Given the description of an element on the screen output the (x, y) to click on. 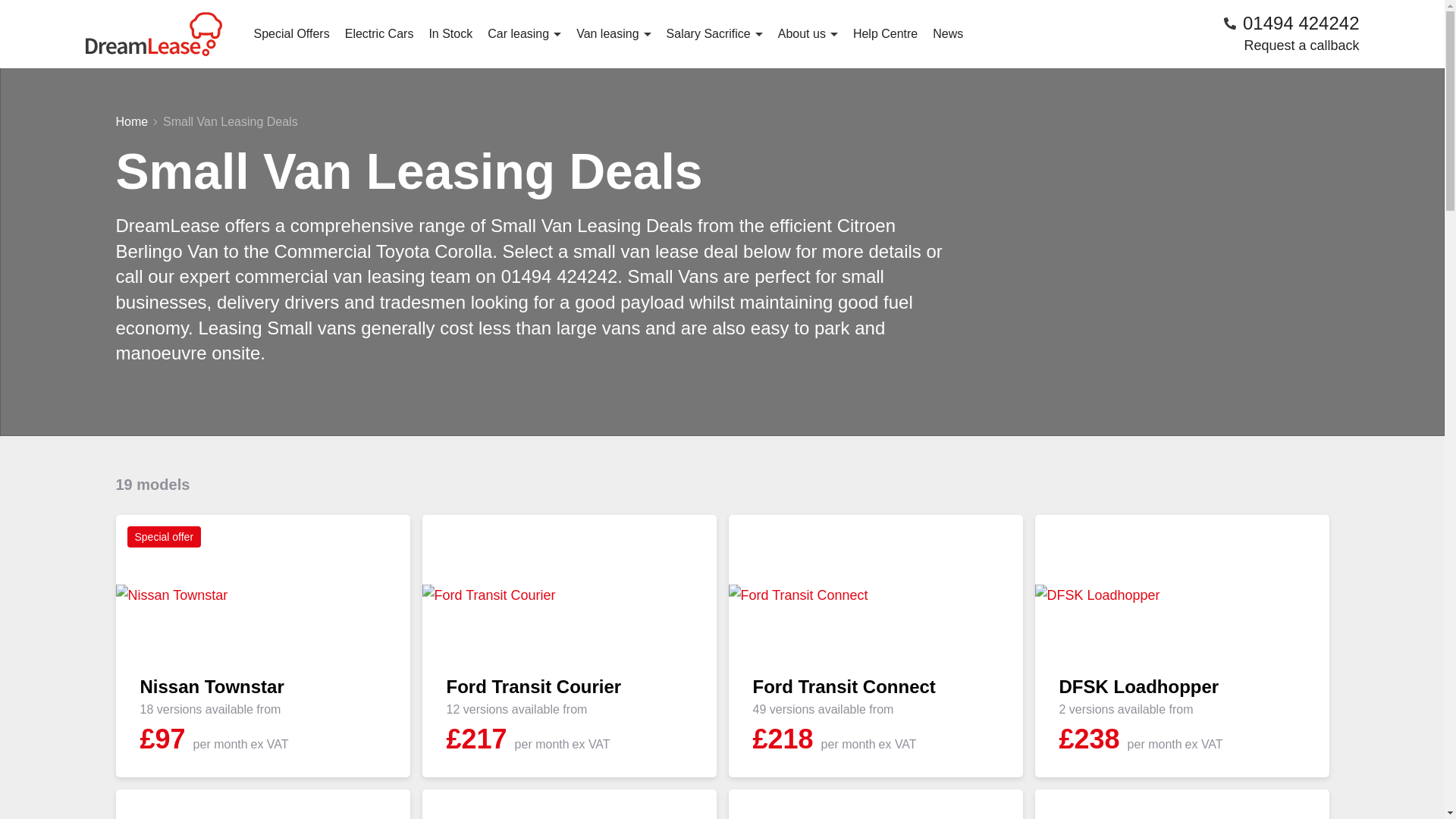
Electric Cars (379, 33)
In Stock (450, 33)
Help Centre (884, 33)
News (947, 33)
Special Offers (291, 33)
